Given the description of an element on the screen output the (x, y) to click on. 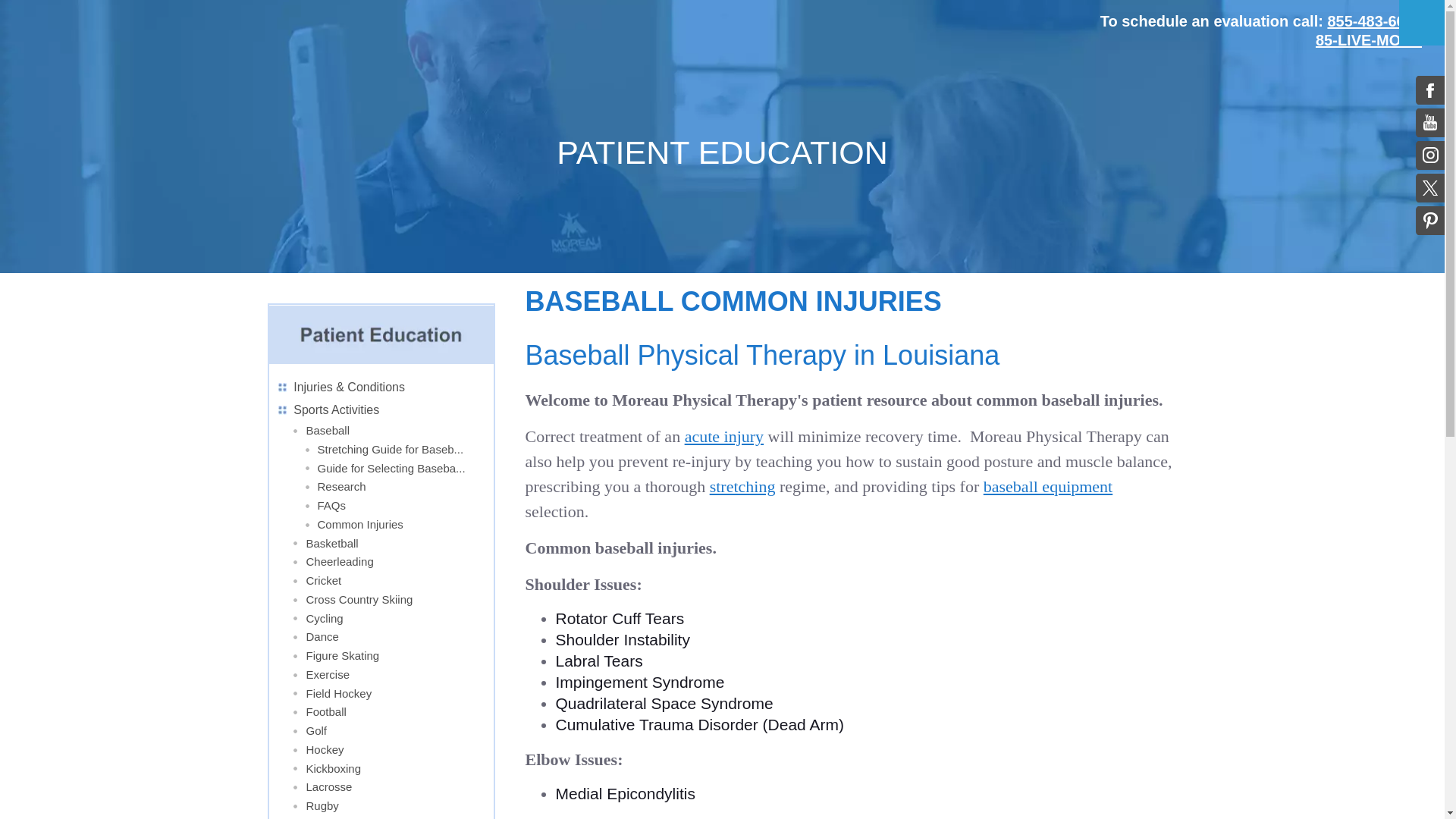
Site Logo (127, 41)
85-LIVE-MORE (1369, 39)
855-483-6673 (1374, 21)
